Given the description of an element on the screen output the (x, y) to click on. 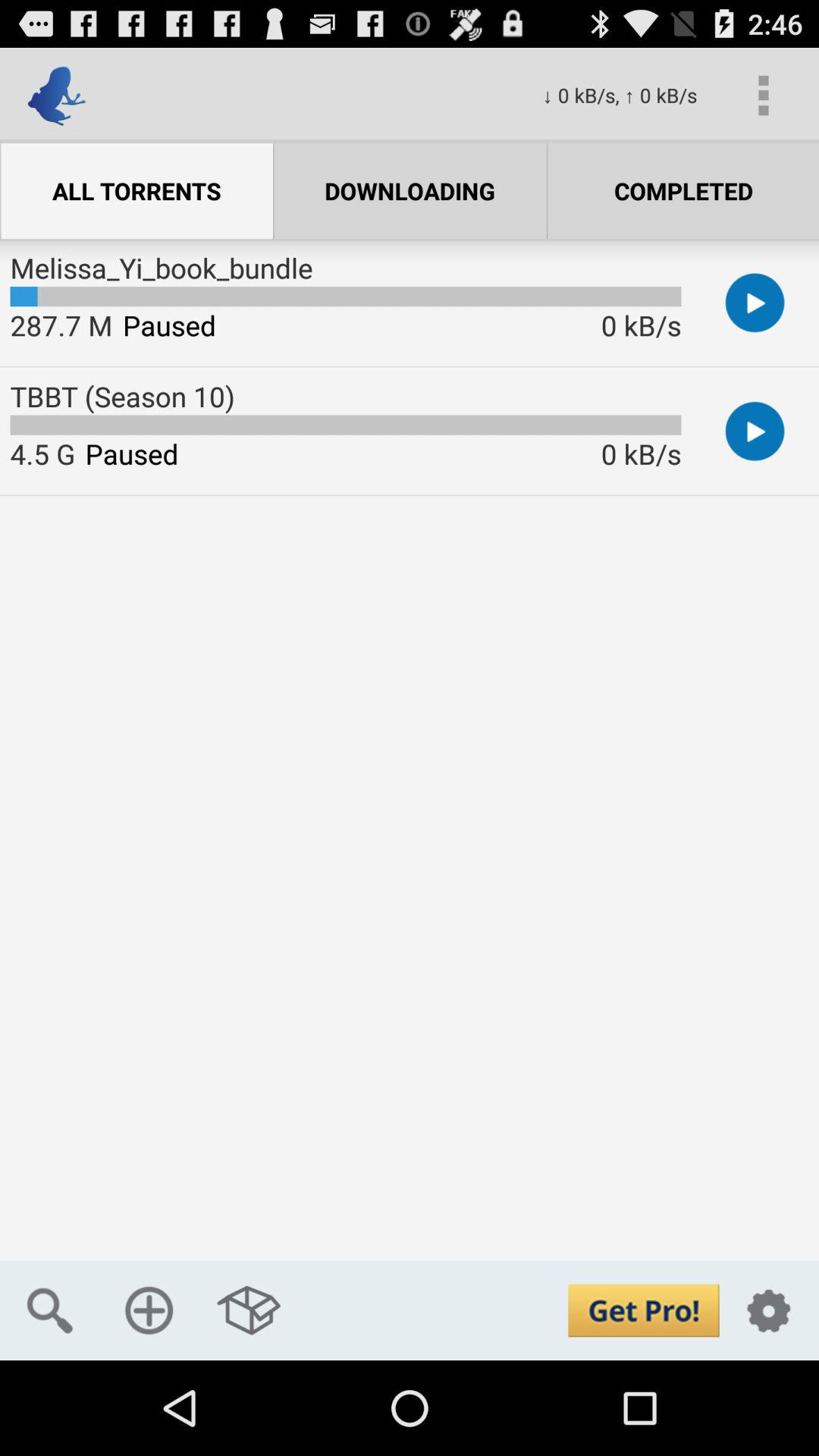
launch the 287.7 m app (61, 325)
